Given the description of an element on the screen output the (x, y) to click on. 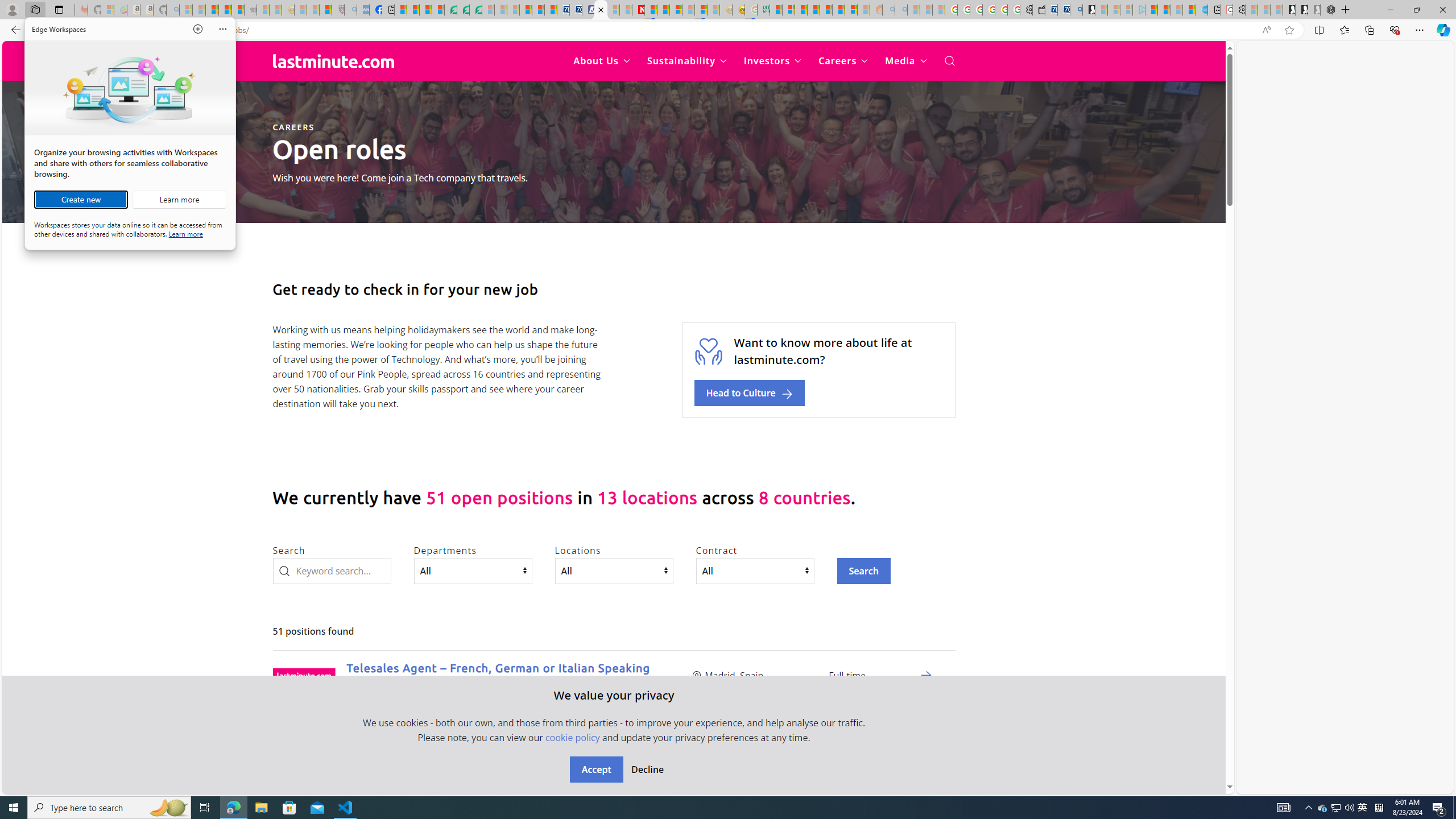
Terms of Use Agreement (463, 9)
Open Search (949, 60)
Careers (842, 60)
Locations (613, 570)
